Given the description of an element on the screen output the (x, y) to click on. 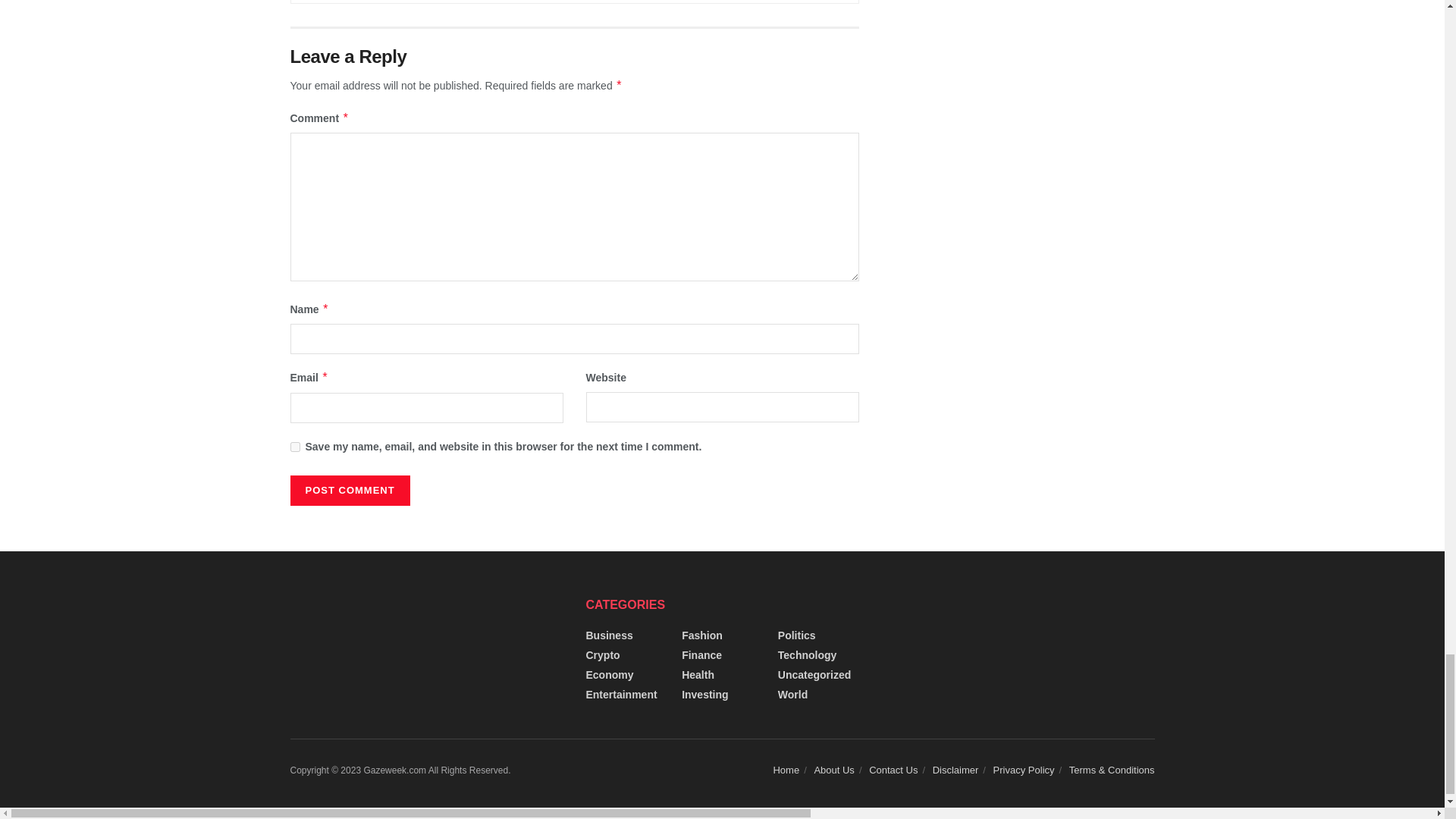
yes (294, 447)
Post Comment (349, 490)
